Given the description of an element on the screen output the (x, y) to click on. 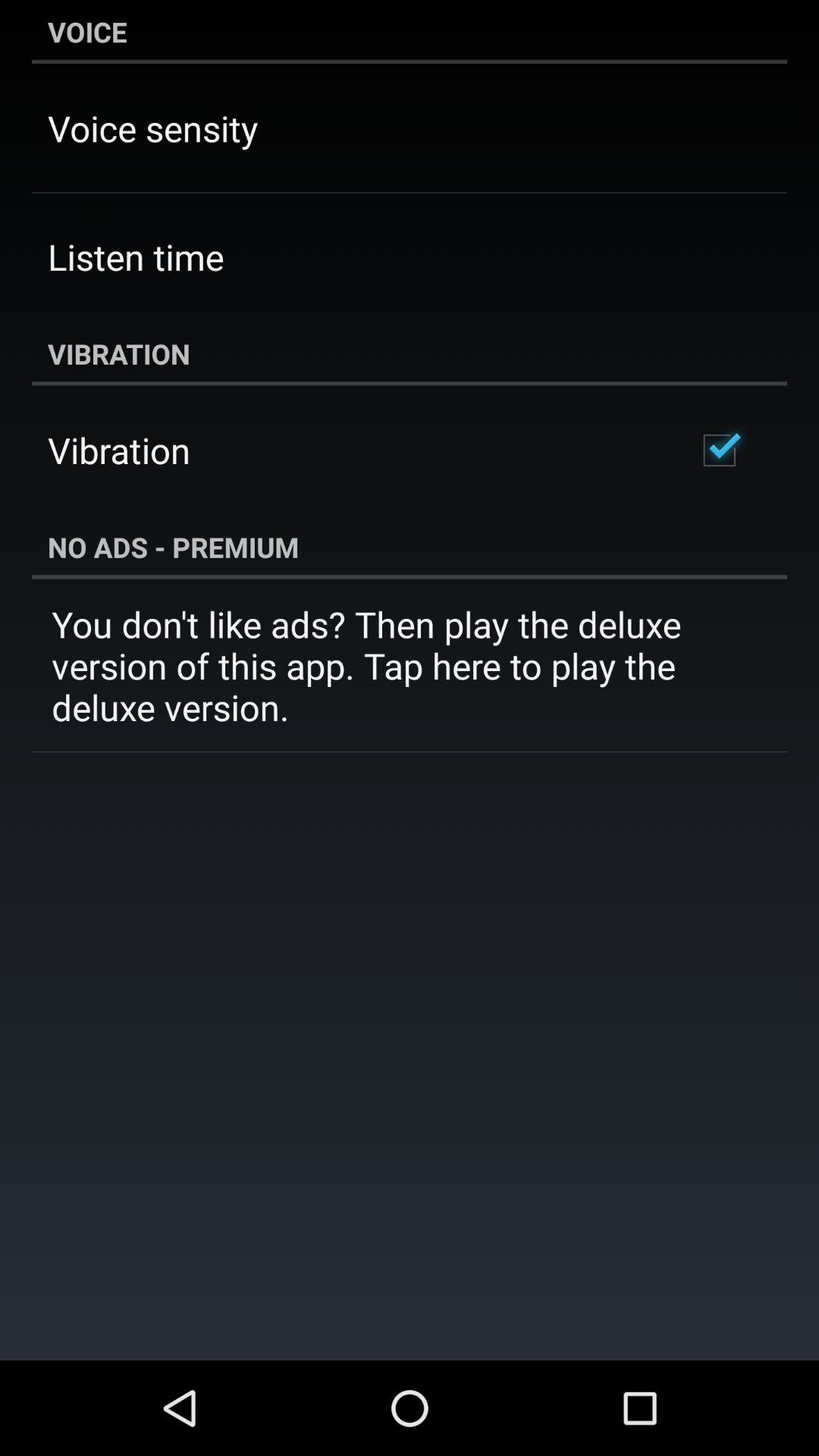
open you don t icon (409, 665)
